Given the description of an element on the screen output the (x, y) to click on. 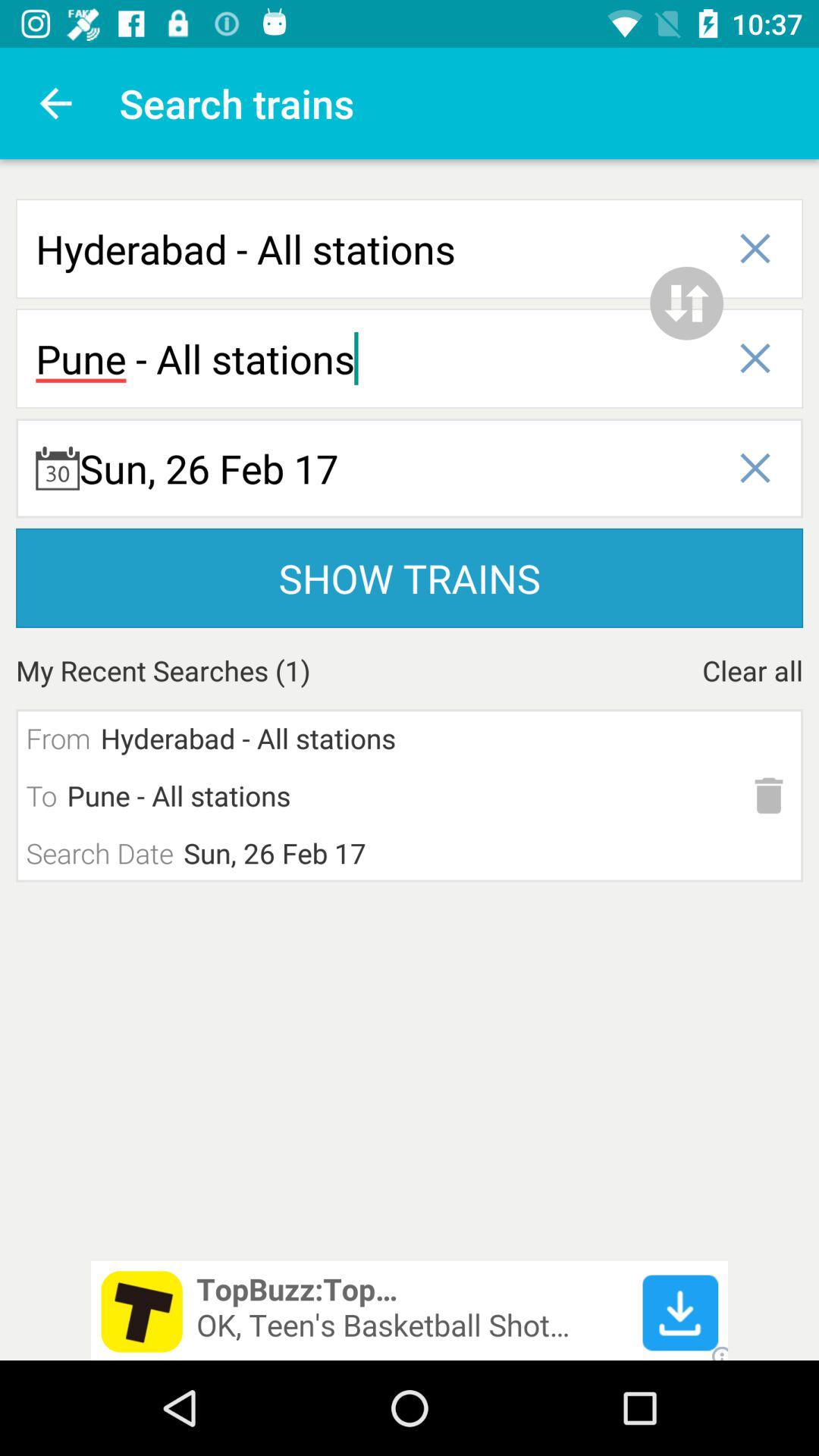
delete search (768, 795)
